Given the description of an element on the screen output the (x, y) to click on. 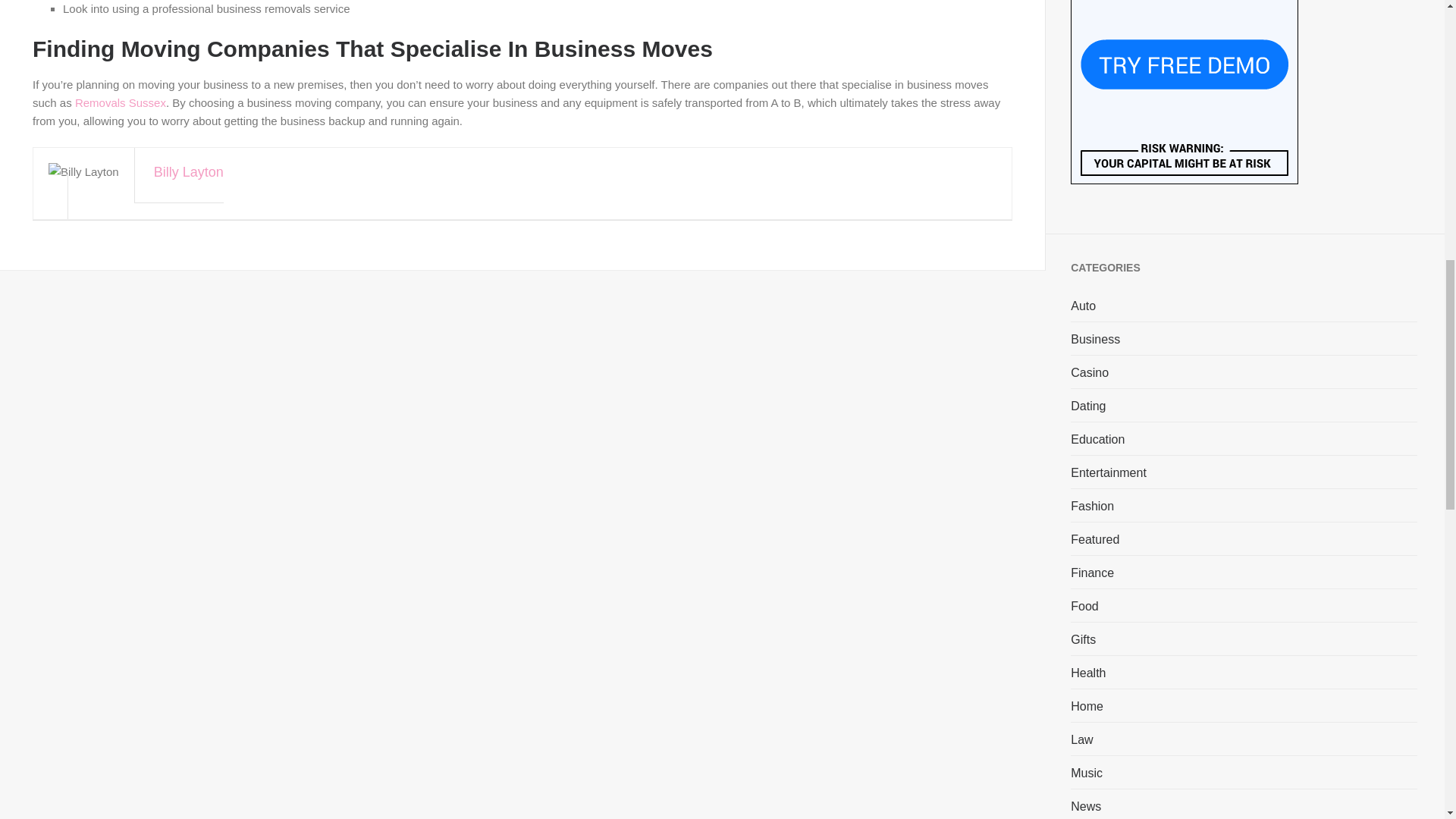
Removals Sussex (120, 101)
Entertainment (1108, 472)
Business (1094, 338)
Billy Layton (529, 188)
Finance (1091, 572)
Gifts (1083, 638)
Fashion (1091, 505)
Law (1081, 739)
Education (1097, 438)
Food (1083, 605)
